Given the description of an element on the screen output the (x, y) to click on. 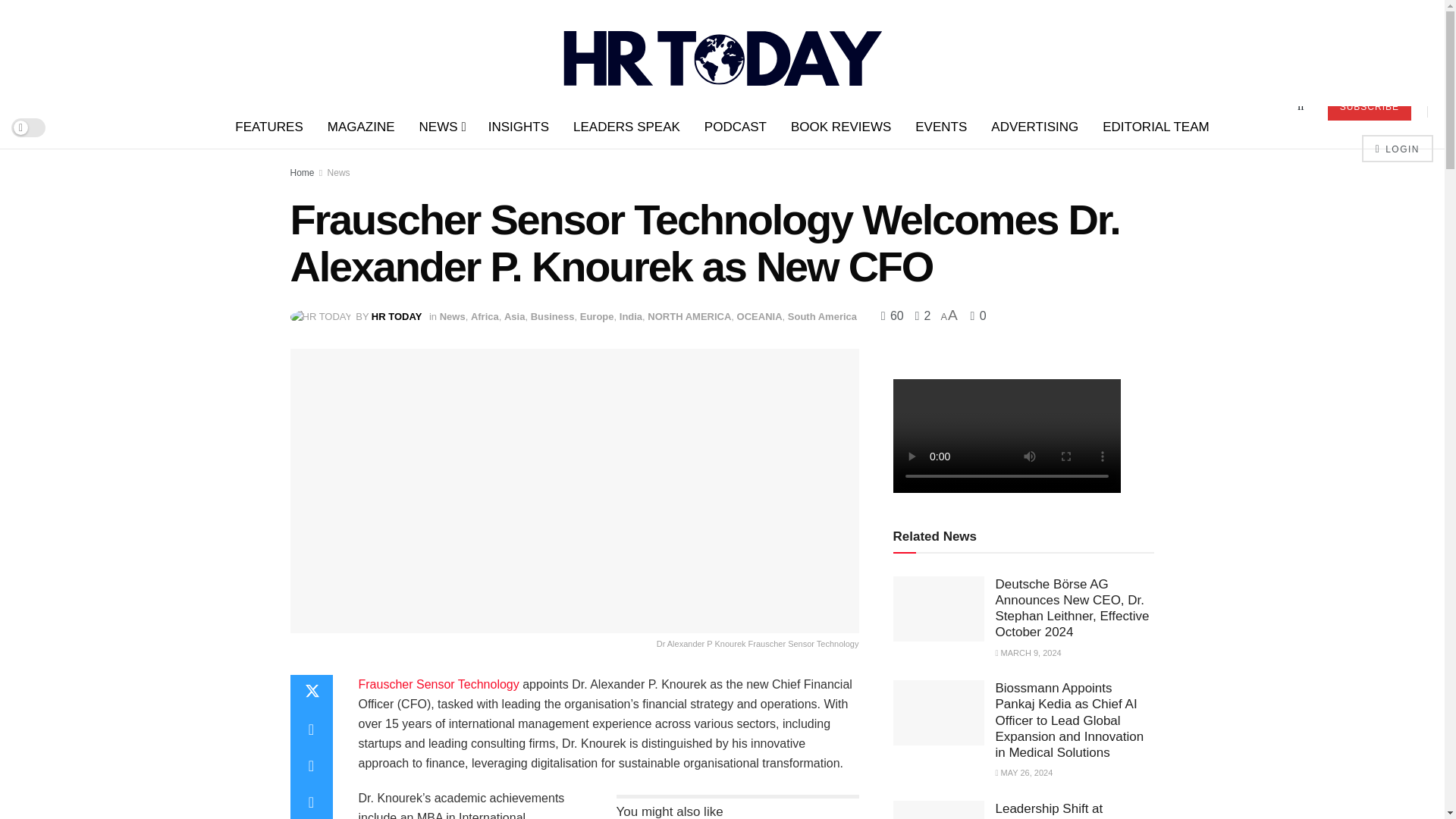
BOOK REVIEWS (840, 127)
SUBSCRIBE (1368, 106)
EDITORIAL TEAM (1155, 127)
MAGAZINE (361, 127)
LOGIN (1396, 148)
LEADERS SPEAK (626, 127)
EVENTS (940, 127)
NEWS (441, 127)
INSIGHTS (518, 127)
FEATURES (268, 127)
